Given the description of an element on the screen output the (x, y) to click on. 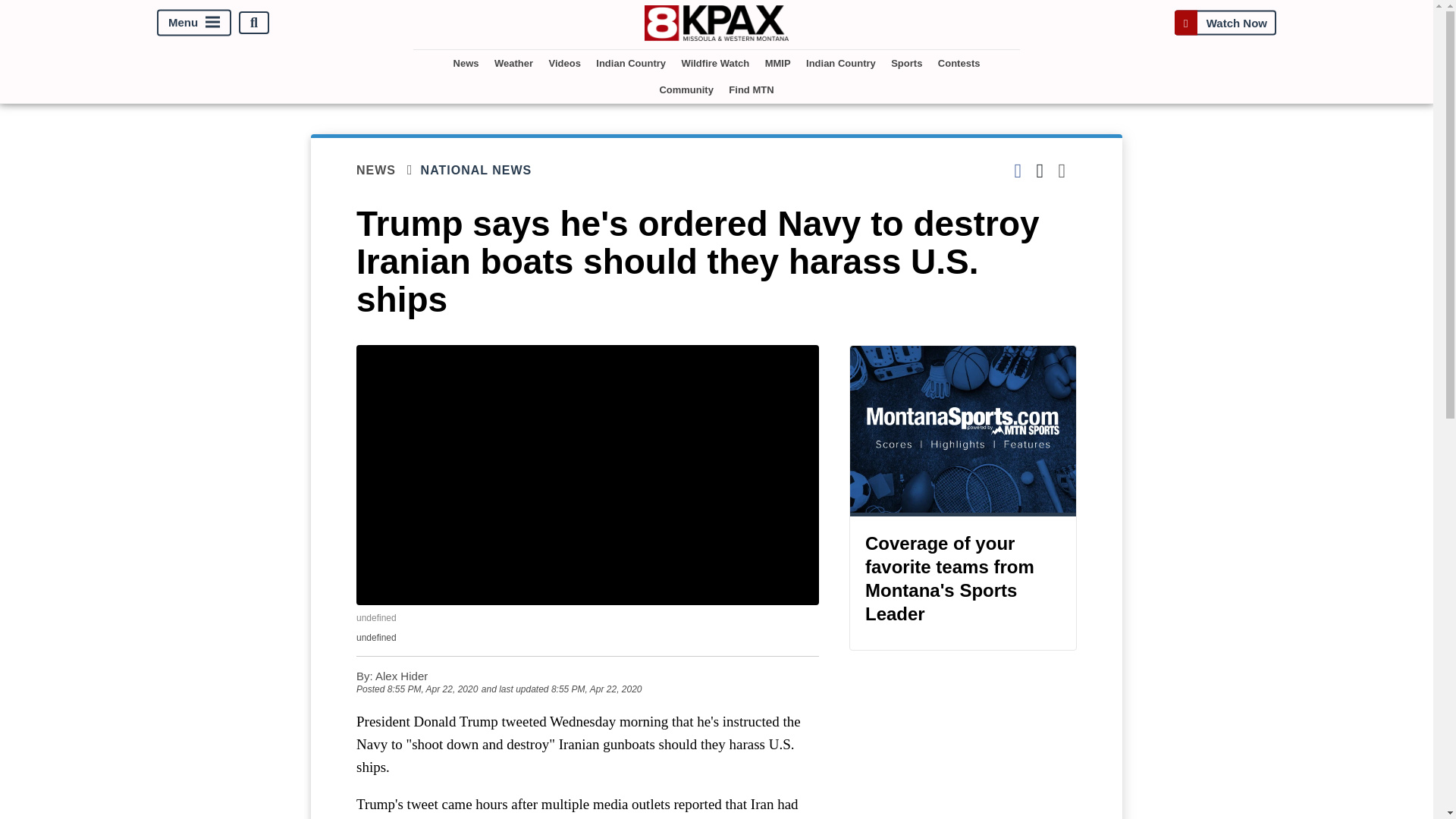
Menu (194, 22)
Watch Now (1224, 22)
